Given the description of an element on the screen output the (x, y) to click on. 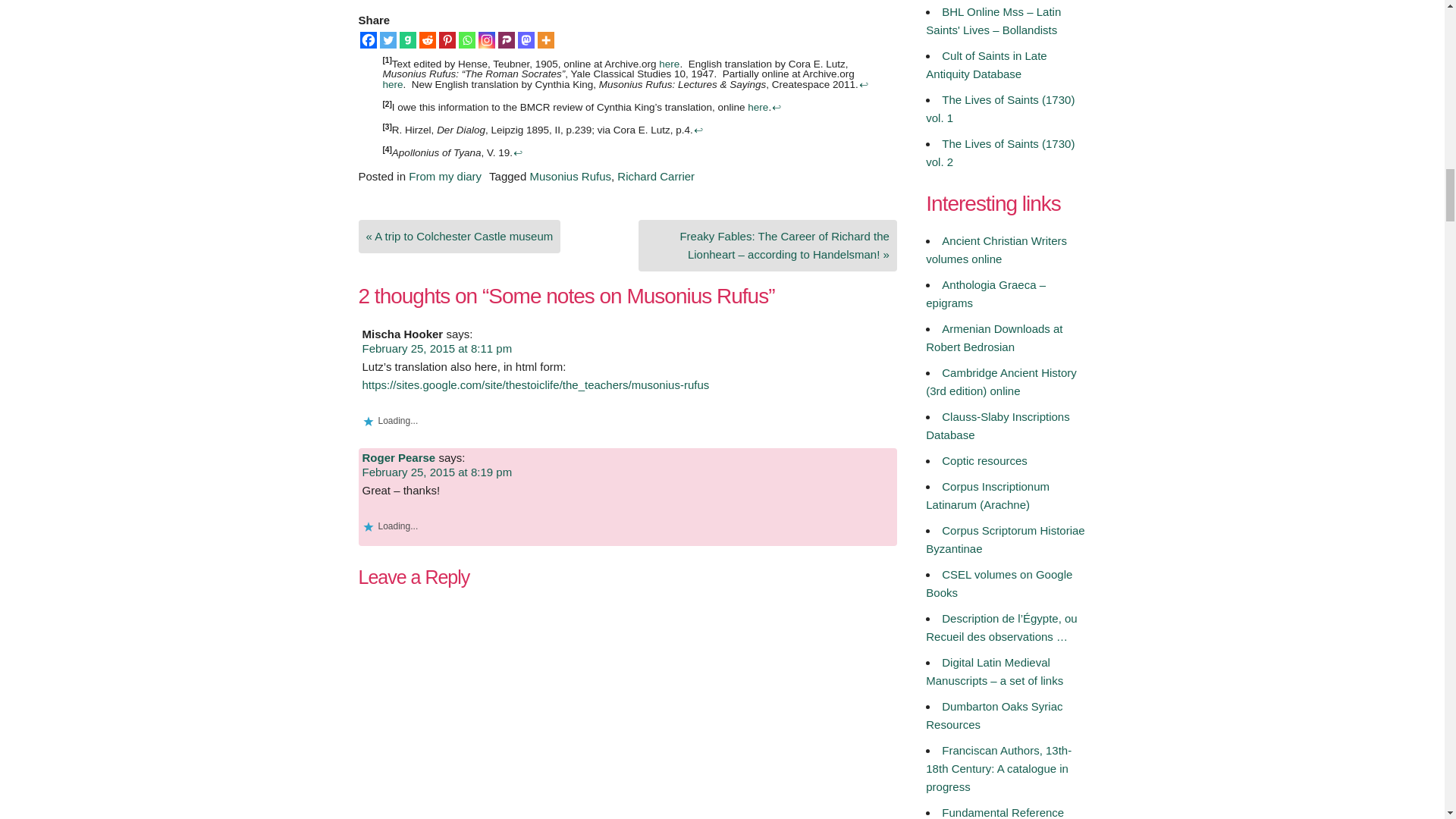
here (758, 107)
here (669, 62)
Mastodon (525, 39)
here (392, 84)
Gab (406, 39)
Whatsapp (466, 39)
Twitter (387, 39)
Pinterest (446, 39)
Richard Carrier (655, 175)
More (545, 39)
Reddit (427, 39)
Facebook (367, 39)
Musonius Rufus (570, 175)
Parler (505, 39)
From my diary (445, 175)
